Given the description of an element on the screen output the (x, y) to click on. 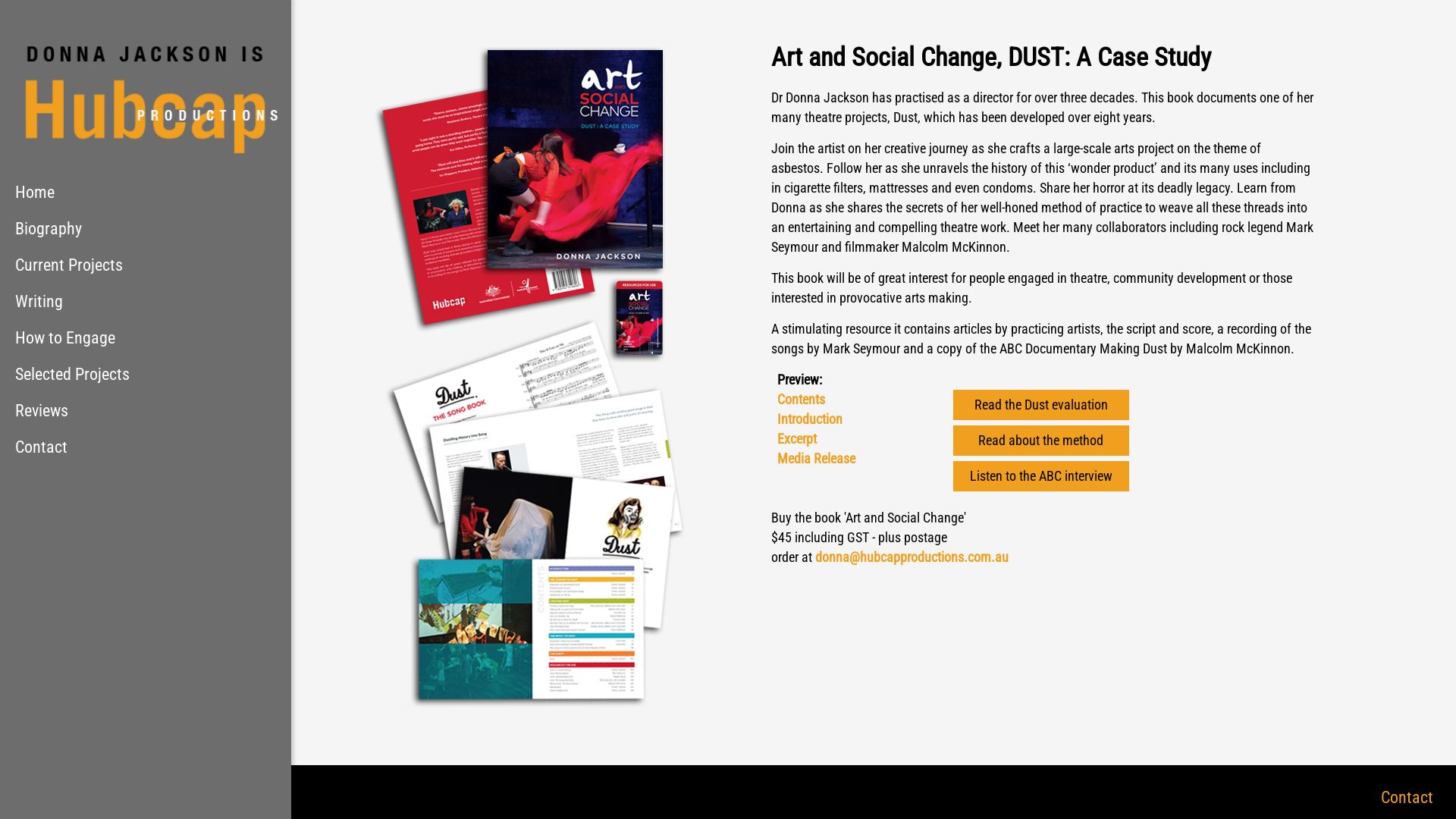
Contents Element type: text (800, 399)
Media Release Element type: text (815, 458)
Listen to the ABC interview Element type: text (1041, 476)
Read about the method Element type: text (1041, 440)
donna@hubcapproductions.com.au Element type: text (911, 556)
Selected Projects Element type: text (145, 374)
Current Projects Element type: text (145, 265)
How to Engage Element type: text (145, 337)
Writing Element type: text (145, 301)
Introduction Element type: text (808, 418)
Excerpt Element type: text (795, 438)
Read the Dust evaluation Element type: text (1041, 404)
Contact Element type: text (145, 447)
Home Element type: text (145, 192)
Hubcap Productions Element type: hover (145, 87)
Reviews Element type: text (145, 410)
Contact Element type: text (1406, 797)
Biography Element type: text (145, 228)
